Given the description of an element on the screen output the (x, y) to click on. 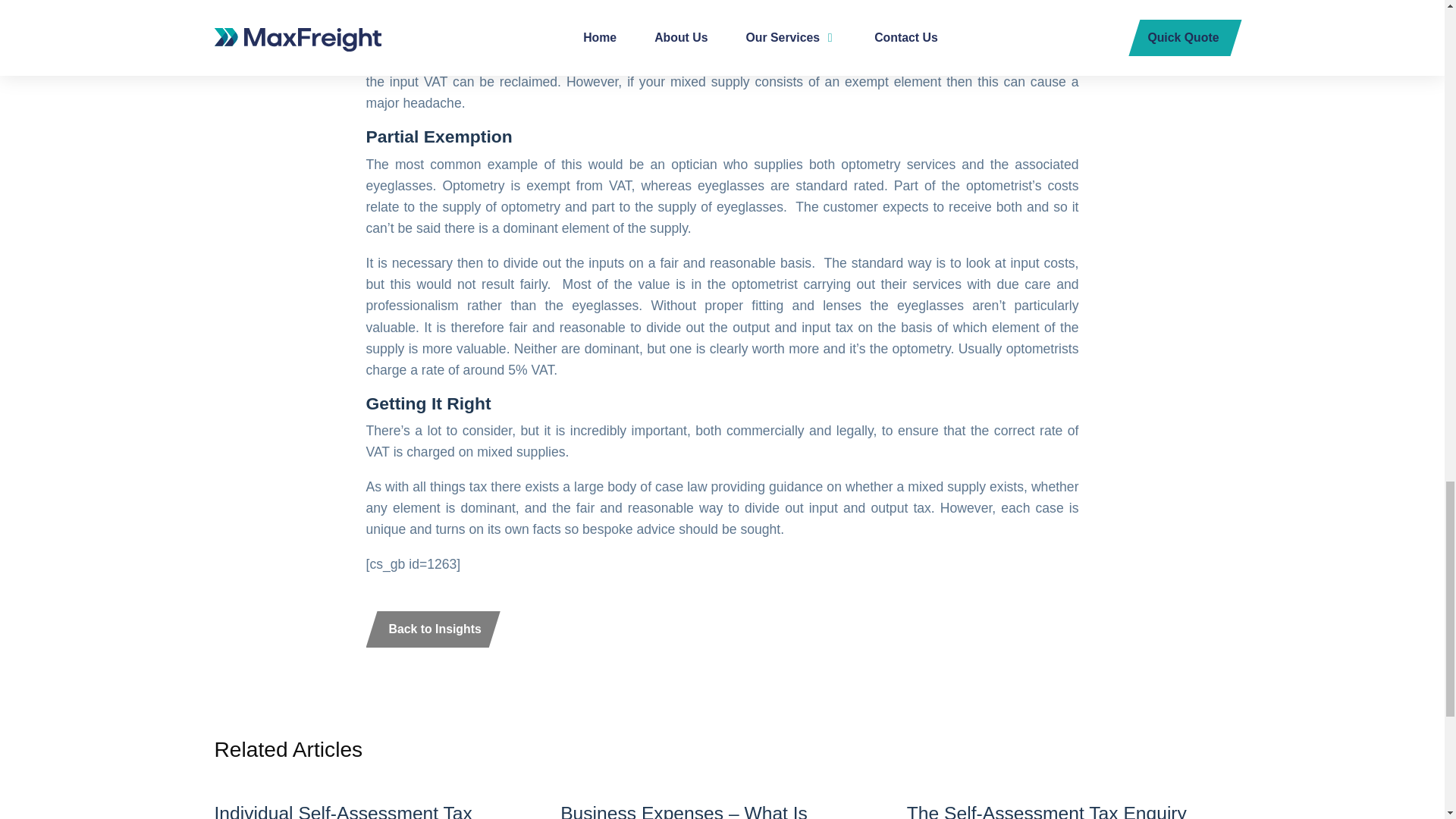
Back to Insights (375, 796)
